Given the description of an element on the screen output the (x, y) to click on. 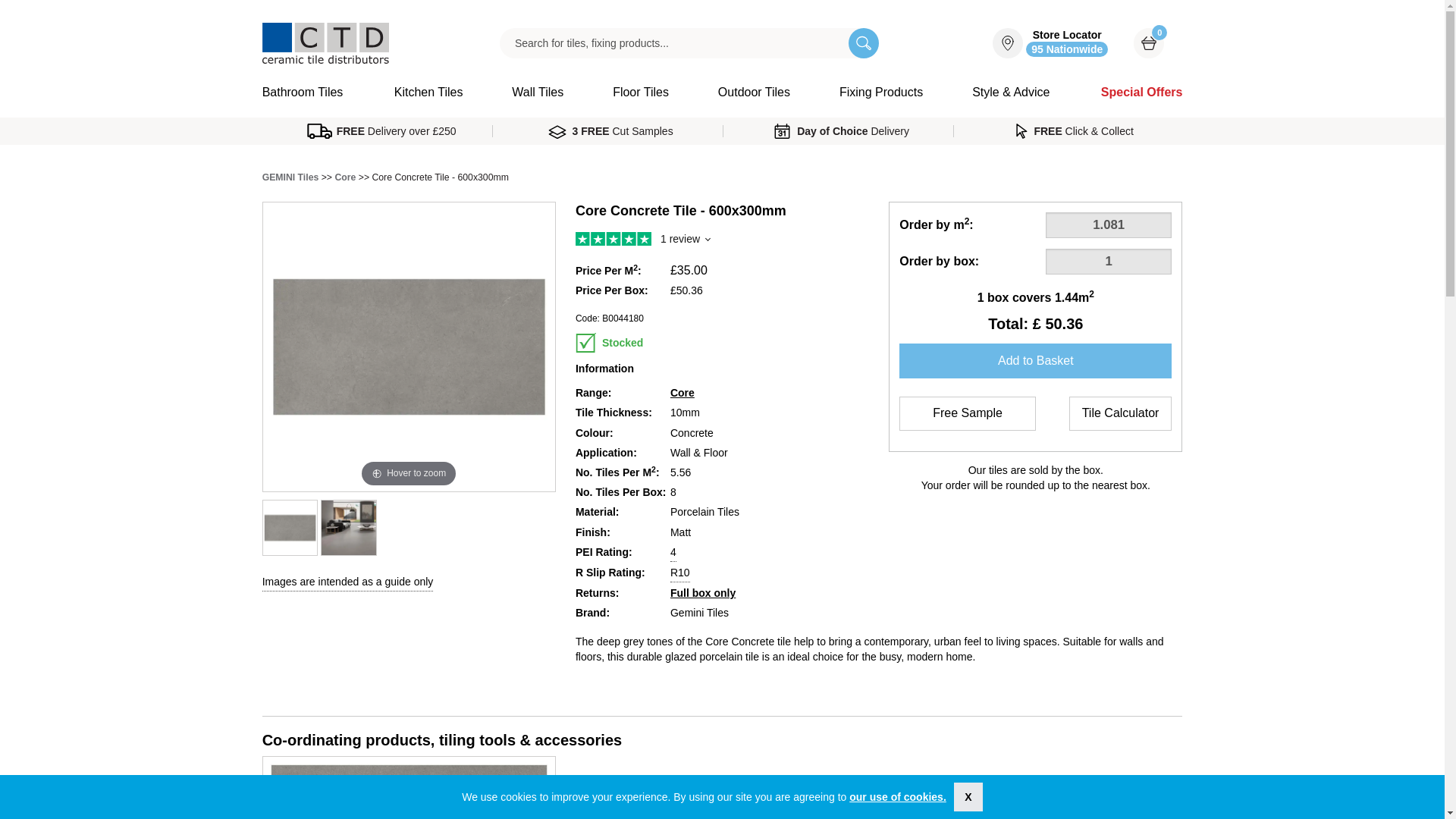
X (967, 796)
Bathroom Tiles (315, 97)
Free Sample (967, 413)
1.081 (1049, 43)
Kitchen Tiles (1108, 225)
Floor Tiles (428, 92)
Wall Tiles (641, 92)
0 (537, 92)
our use of cookies. (1149, 43)
1 (897, 797)
Bathroom Tiles (1108, 261)
